Given the description of an element on the screen output the (x, y) to click on. 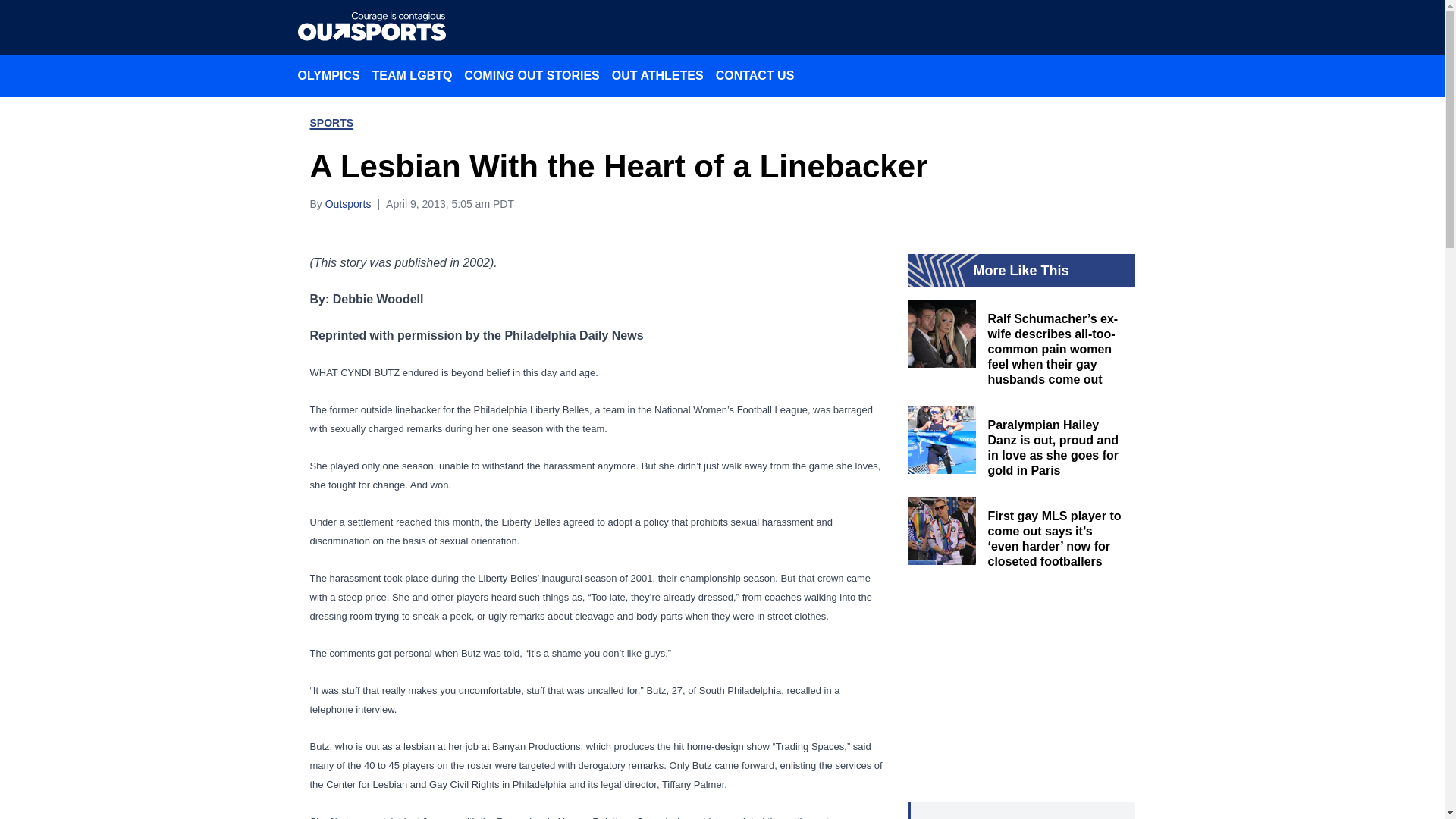
COMING OUT STORIES (531, 75)
OLYMPICS (328, 75)
TEAM LGBTQ (412, 75)
SPORTS (330, 122)
Outsports (347, 203)
OUT ATHLETES (657, 75)
CONTACT US (755, 75)
